Given the description of an element on the screen output the (x, y) to click on. 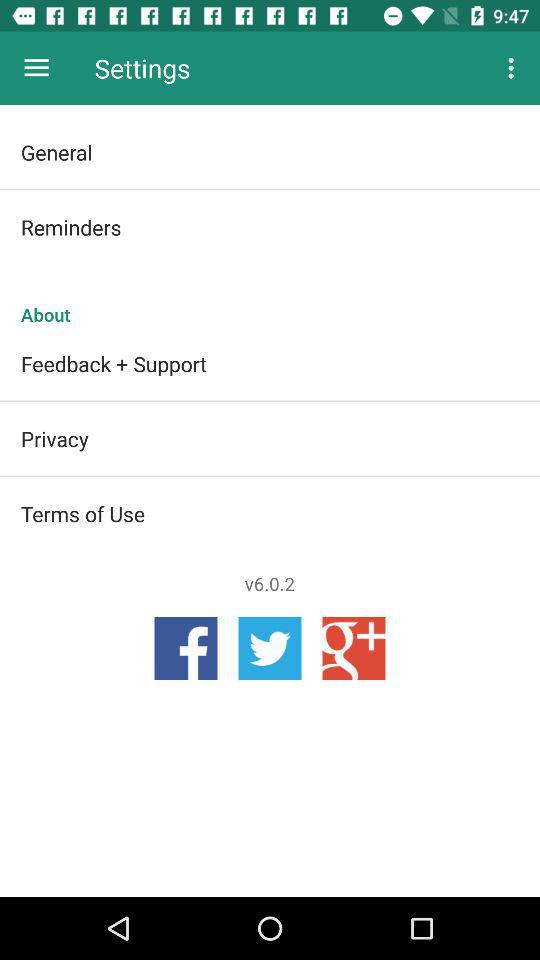
twitter button (269, 648)
